Given the description of an element on the screen output the (x, y) to click on. 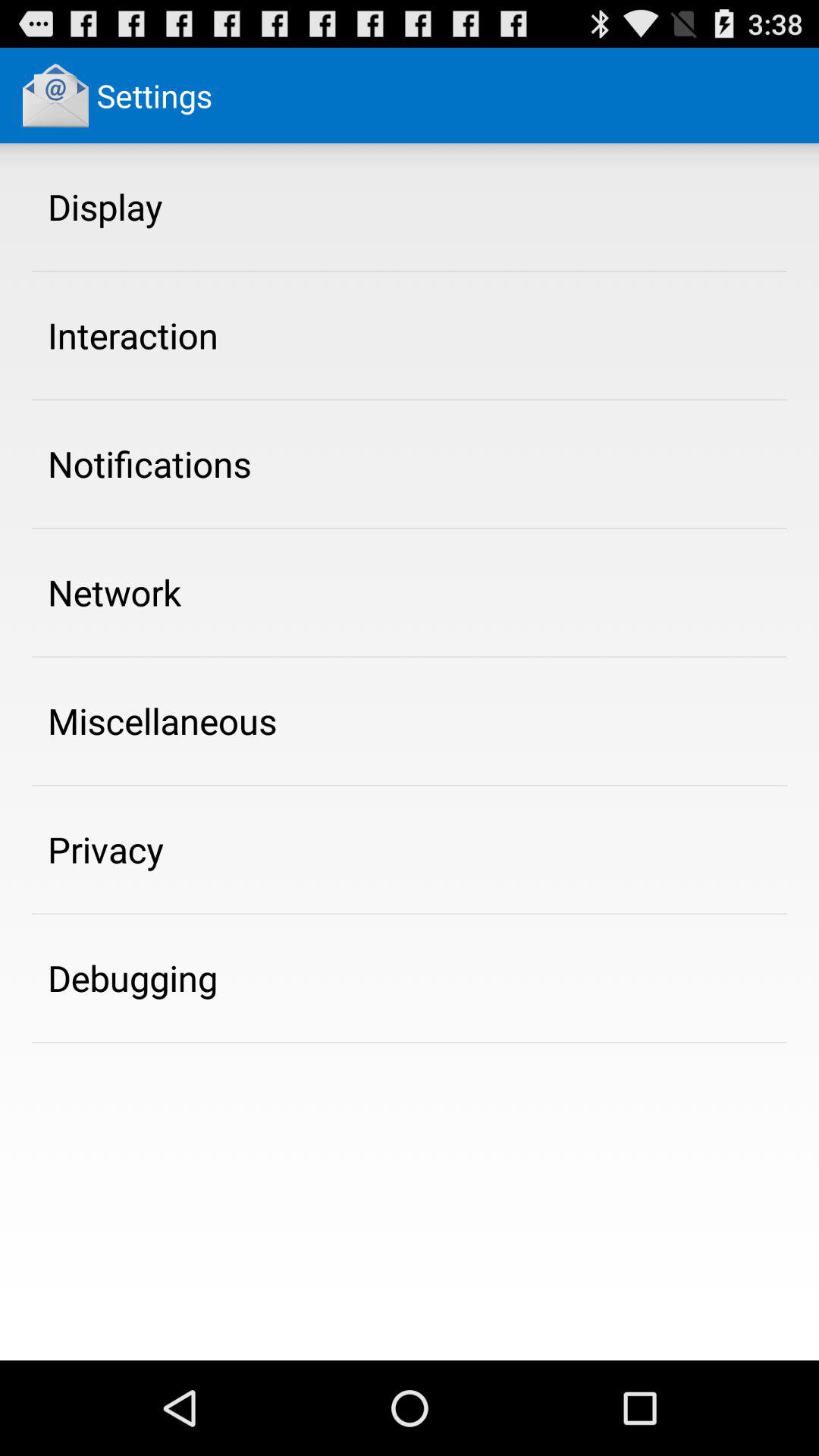
click the miscellaneous item (161, 720)
